Given the description of an element on the screen output the (x, y) to click on. 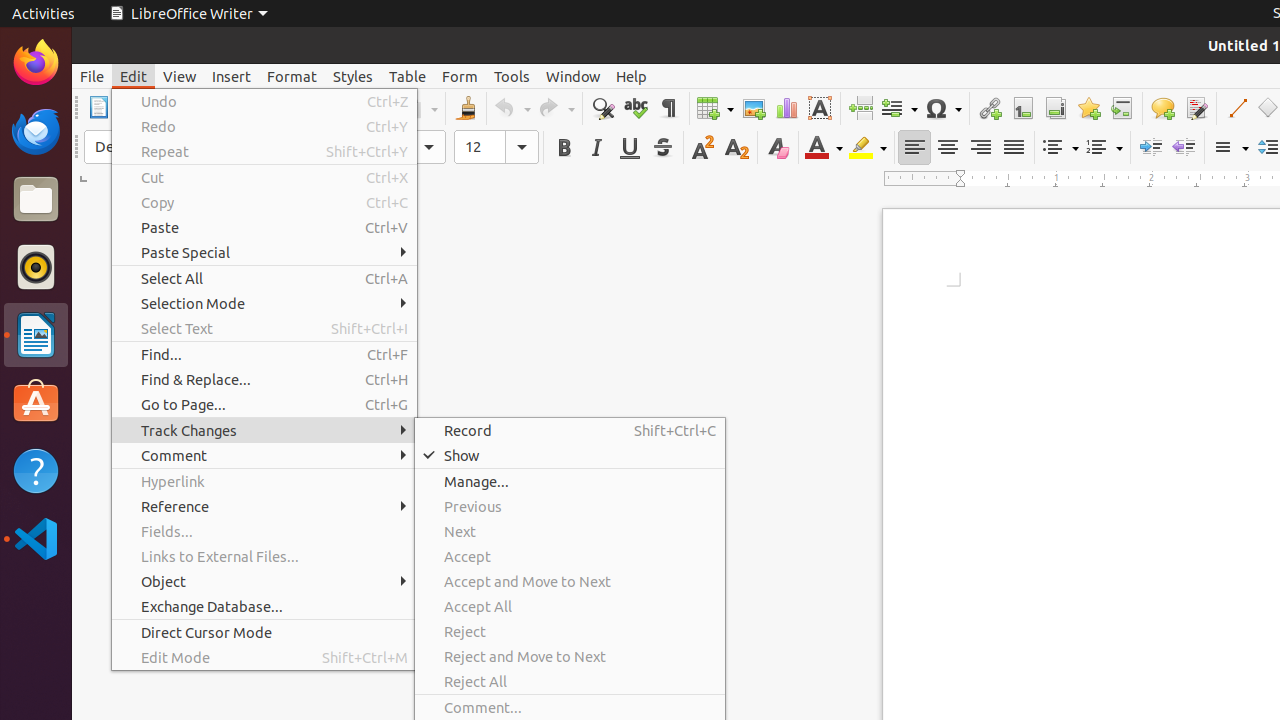
Paste Element type: menu-item (264, 227)
Window Element type: menu (573, 76)
Table Element type: push-button (715, 108)
Object Element type: menu (264, 581)
Font Color Element type: push-button (824, 147)
